Given the description of an element on the screen output the (x, y) to click on. 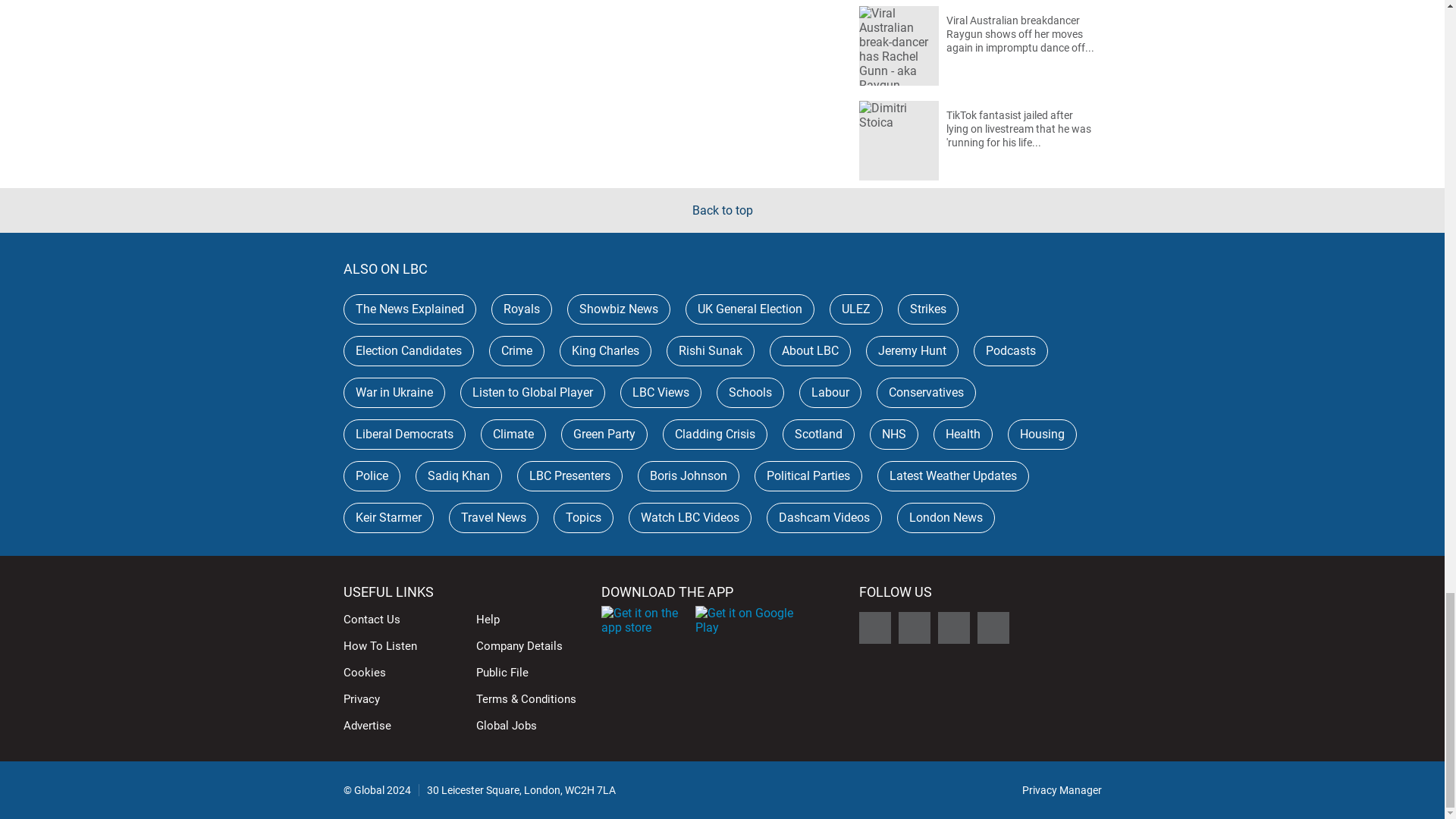
Follow LBC on Youtube (992, 627)
Follow LBC on Facebook (914, 627)
Follow LBC on X (874, 627)
Follow LBC on Instagram (953, 627)
Back to top (721, 210)
